Given the description of an element on the screen output the (x, y) to click on. 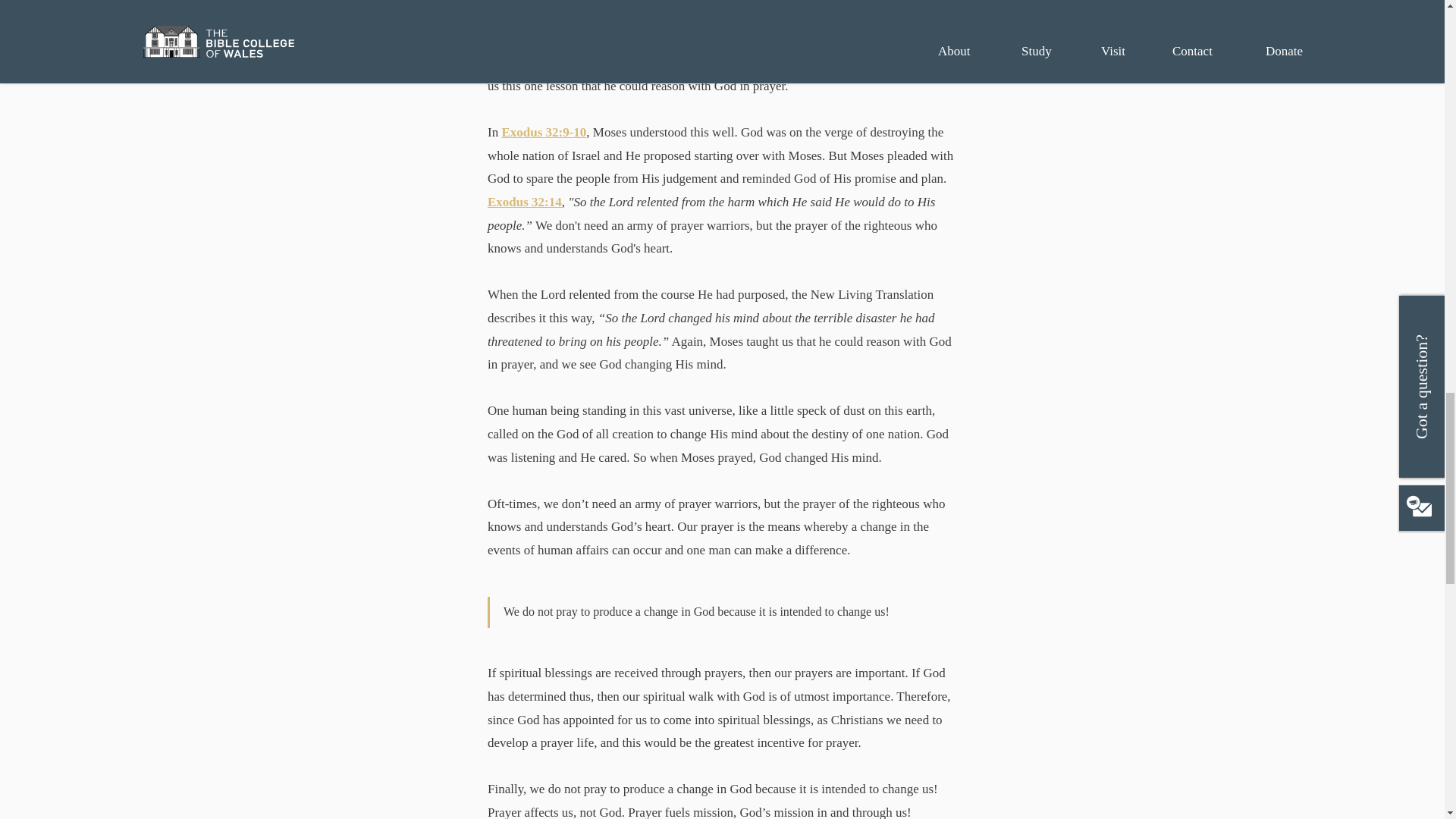
Exodus 32:9-10 (543, 132)
Exodus 32:14 (523, 201)
